Given the description of an element on the screen output the (x, y) to click on. 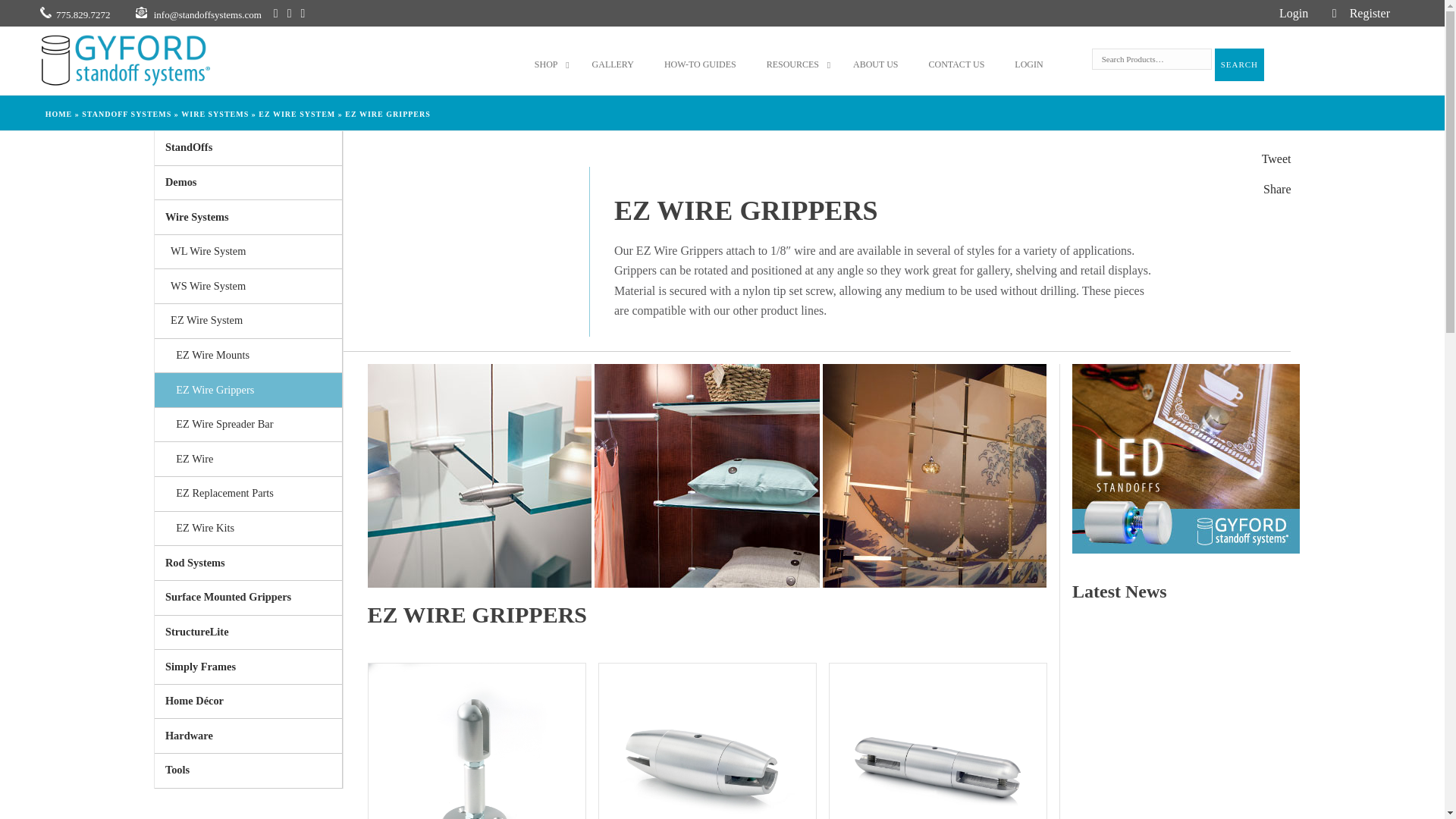
Search (1238, 64)
Login (1293, 13)
Search for: (1151, 58)
SHOP (547, 64)
facebook (275, 12)
pinterest (289, 12)
Extended Surface Mount Panel Gripper (1334, 13)
Register (476, 741)
youtube (1358, 13)
775.829.7272 (303, 12)
